Given the description of an element on the screen output the (x, y) to click on. 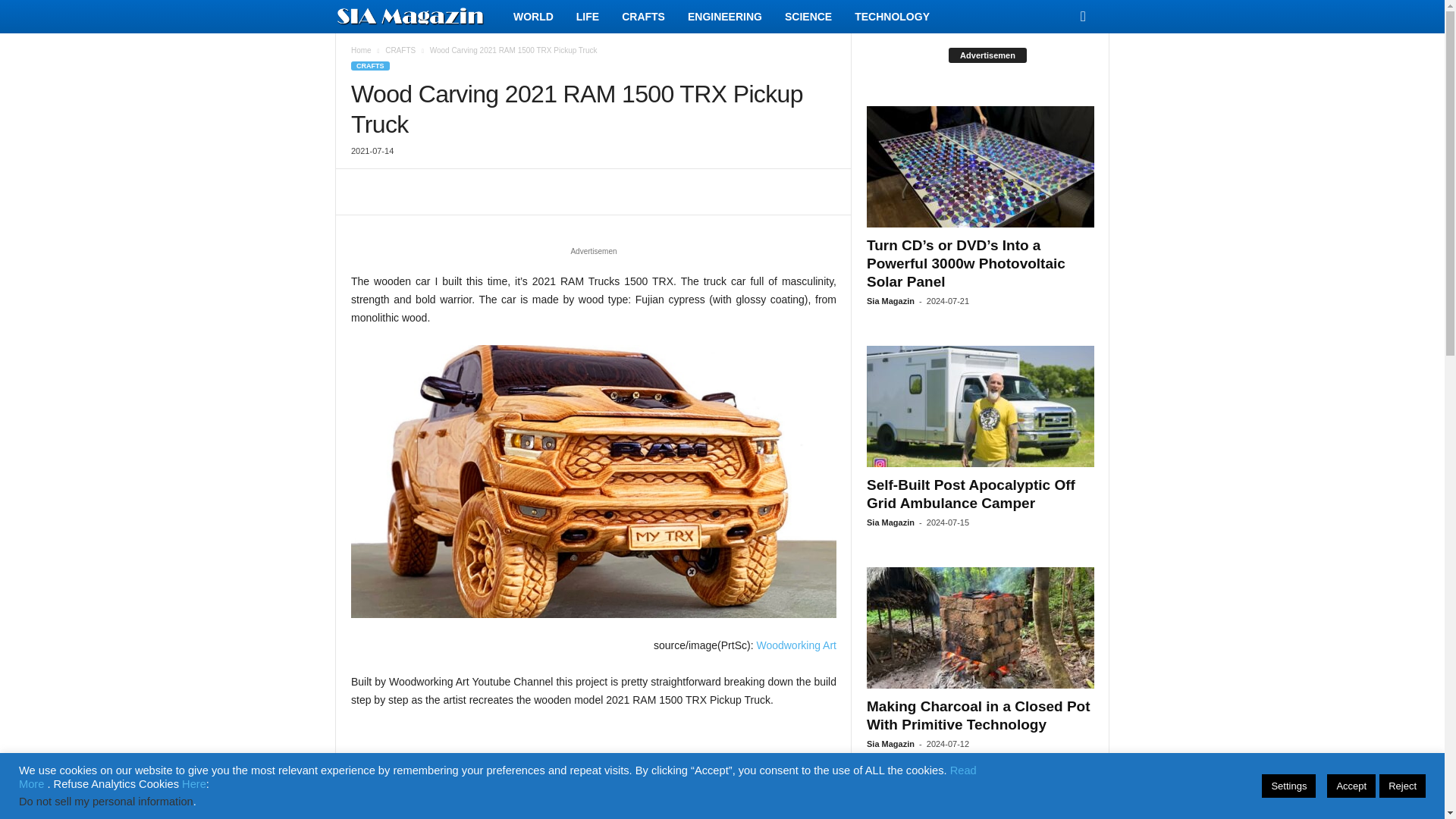
CRAFTS (399, 49)
SCIENCE (808, 16)
CRAFTS (370, 65)
TECHNOLOGY (891, 16)
YouTube video player (592, 773)
Home (360, 49)
View all posts in CRAFTS (399, 49)
Sia Magazin (418, 17)
Woodworking Art (795, 645)
CRAFTS (643, 16)
WORLD (533, 16)
ENGINEERING (725, 16)
LIFE (587, 16)
